Given the description of an element on the screen output the (x, y) to click on. 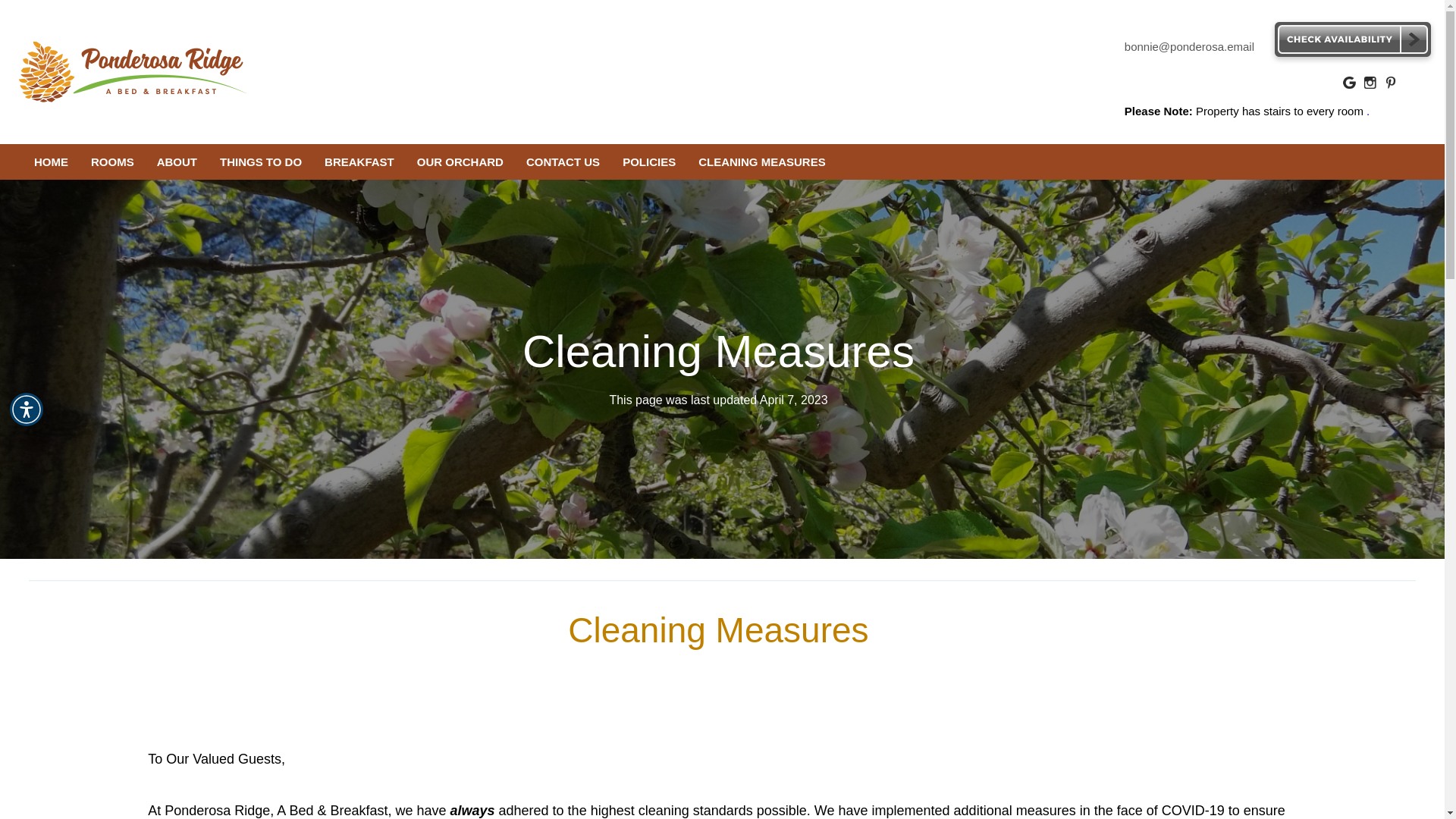
ABOUT (176, 161)
CLEANING MEASURES (762, 161)
THINGS TO DO (260, 161)
. (1368, 110)
POLICIES (649, 161)
BREAKFAST (359, 161)
ROOMS (112, 161)
CONTACT US (563, 161)
OUR ORCHARD (460, 161)
Accessibility Menu (26, 409)
HOME (51, 161)
